Given the description of an element on the screen output the (x, y) to click on. 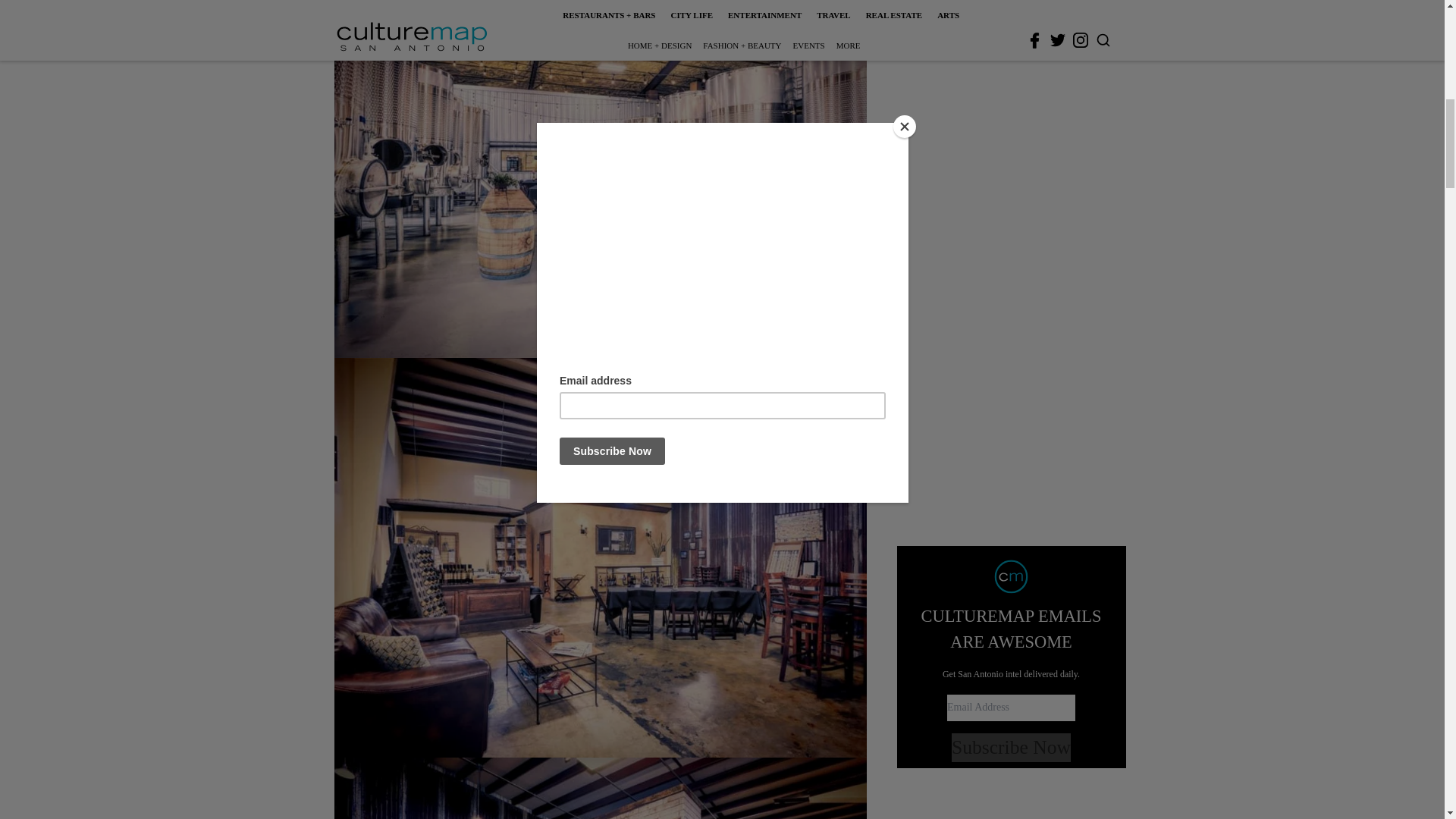
Subscribe Now (1011, 241)
3rd party ad content (1011, 4)
